Given the description of an element on the screen output the (x, y) to click on. 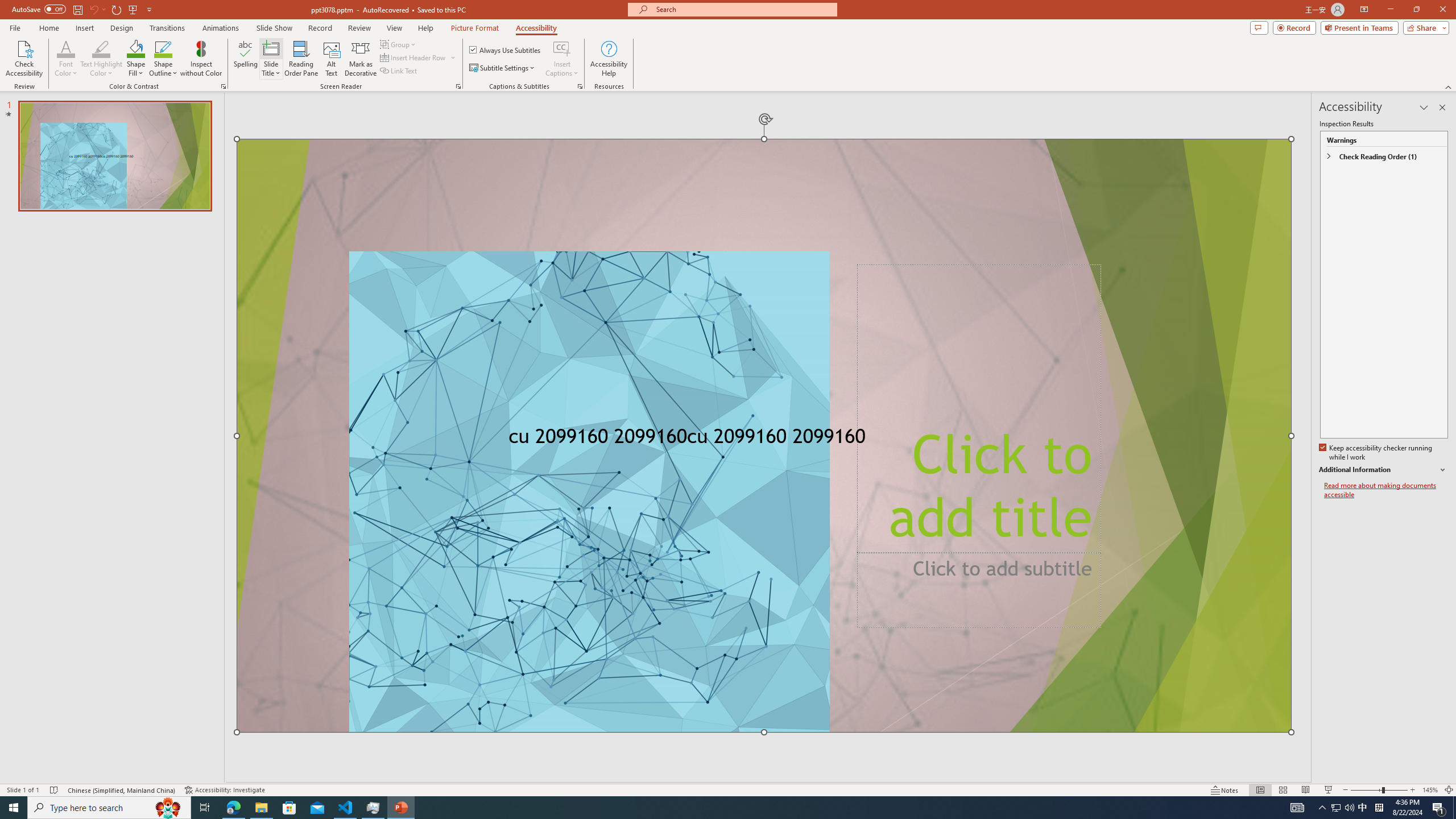
Picture Format (475, 28)
Accessibility Help (608, 58)
